Given the description of an element on the screen output the (x, y) to click on. 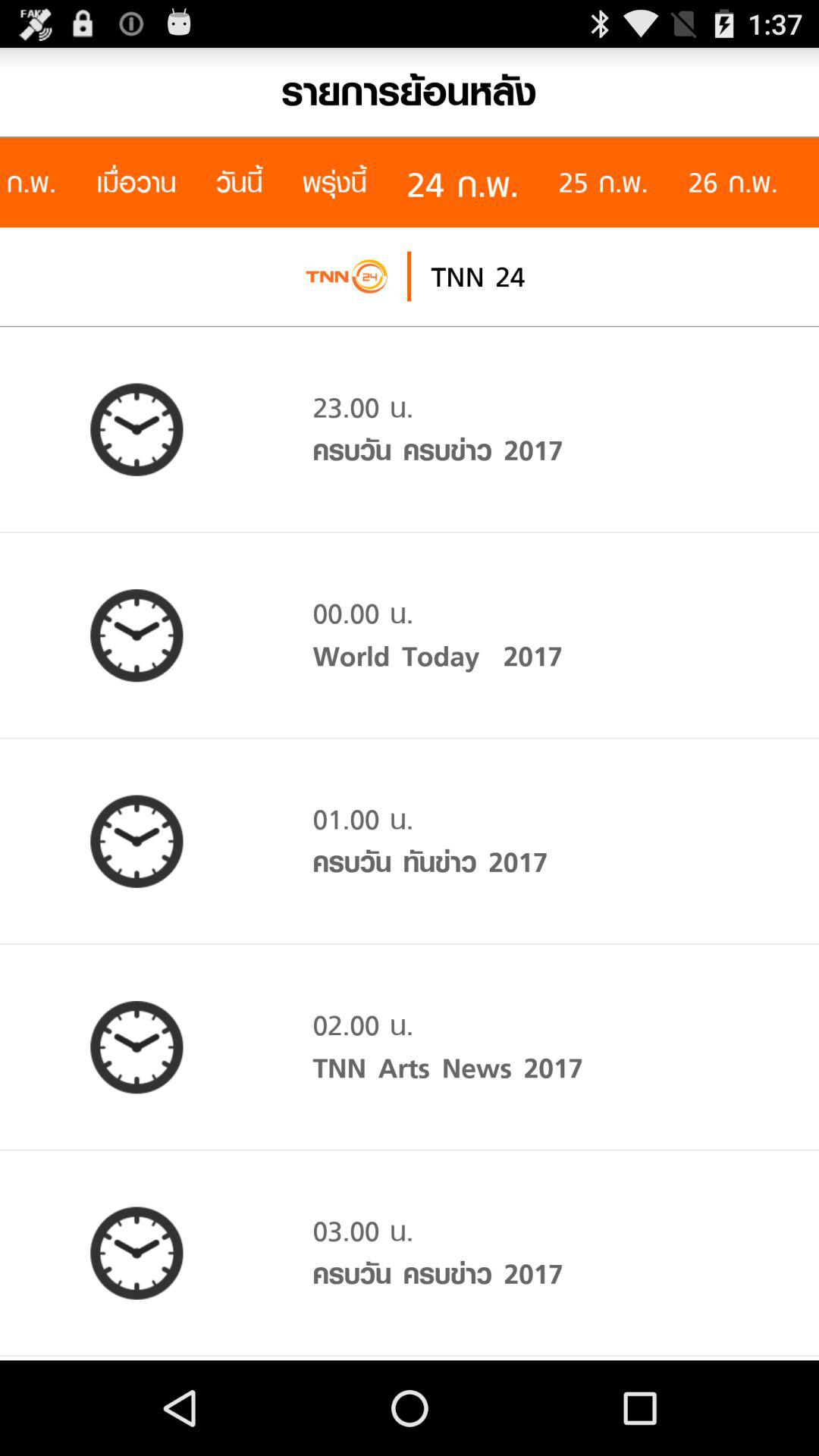
choose the world today  2017 (437, 656)
